Given the description of an element on the screen output the (x, y) to click on. 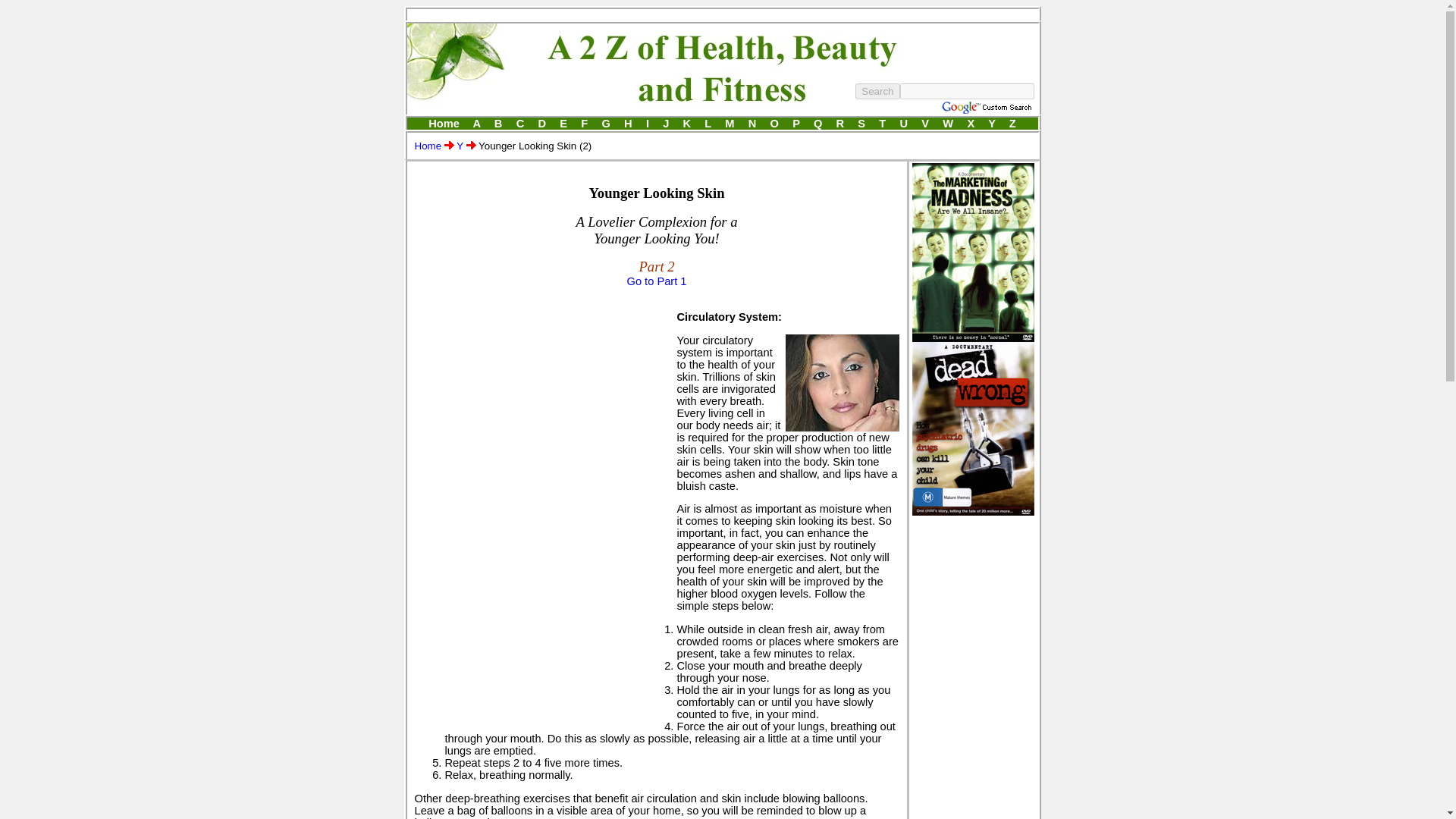
Advertisement (540, 405)
 H  (628, 123)
 B  (497, 123)
 A  (476, 123)
 Home  (443, 123)
 J  (665, 123)
 V  (925, 123)
 S  (861, 123)
Advertisement (721, 14)
 W  (947, 123)
